Given the description of an element on the screen output the (x, y) to click on. 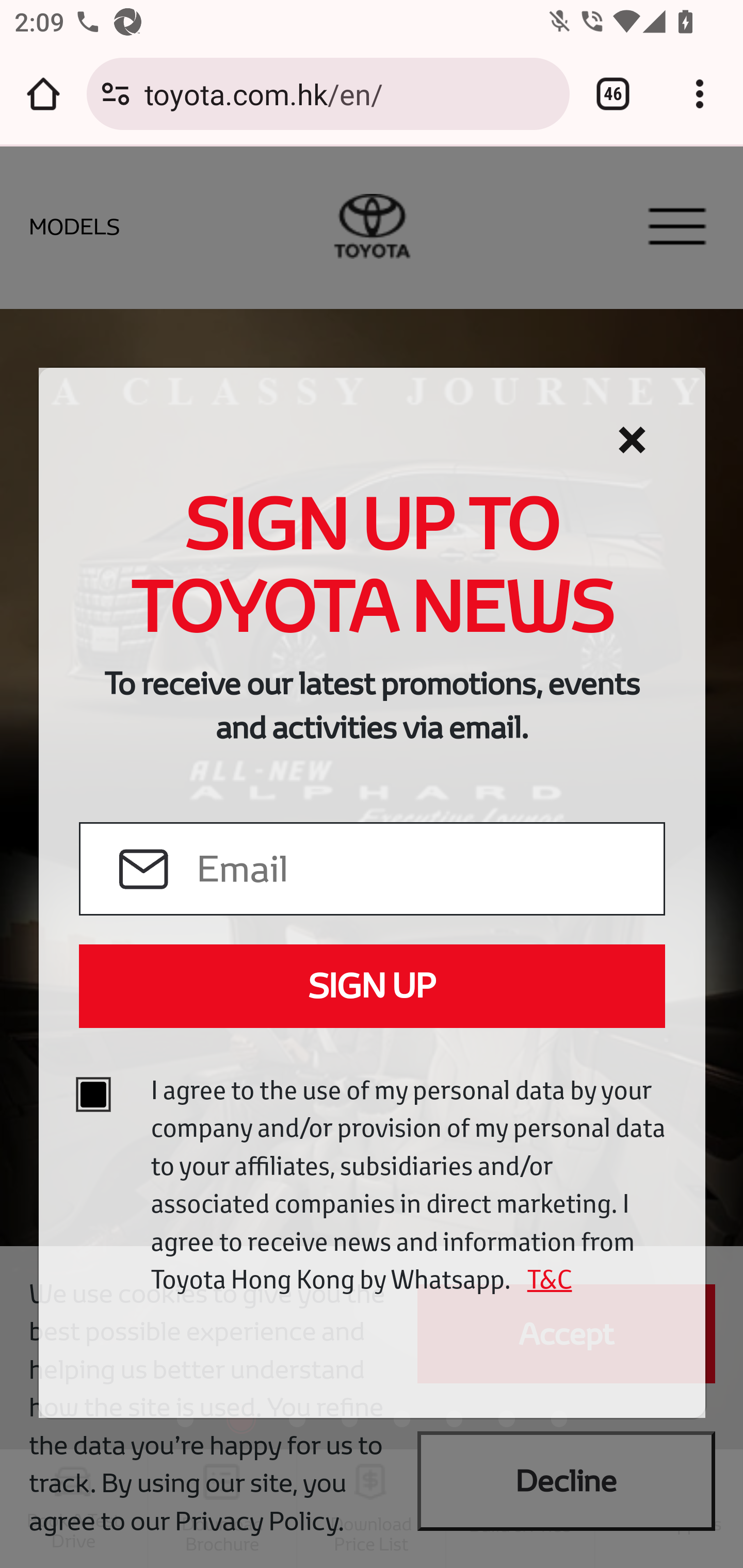
Open the home page (43, 93)
Connection is secure (115, 93)
Switch or close tabs (612, 93)
Customize and control Google Chrome (699, 93)
toyota.com.hk/en/ (349, 92)
Cerrar (631, 440)
SIGN UP (371, 985)
T&C (543, 1279)
